Given the description of an element on the screen output the (x, y) to click on. 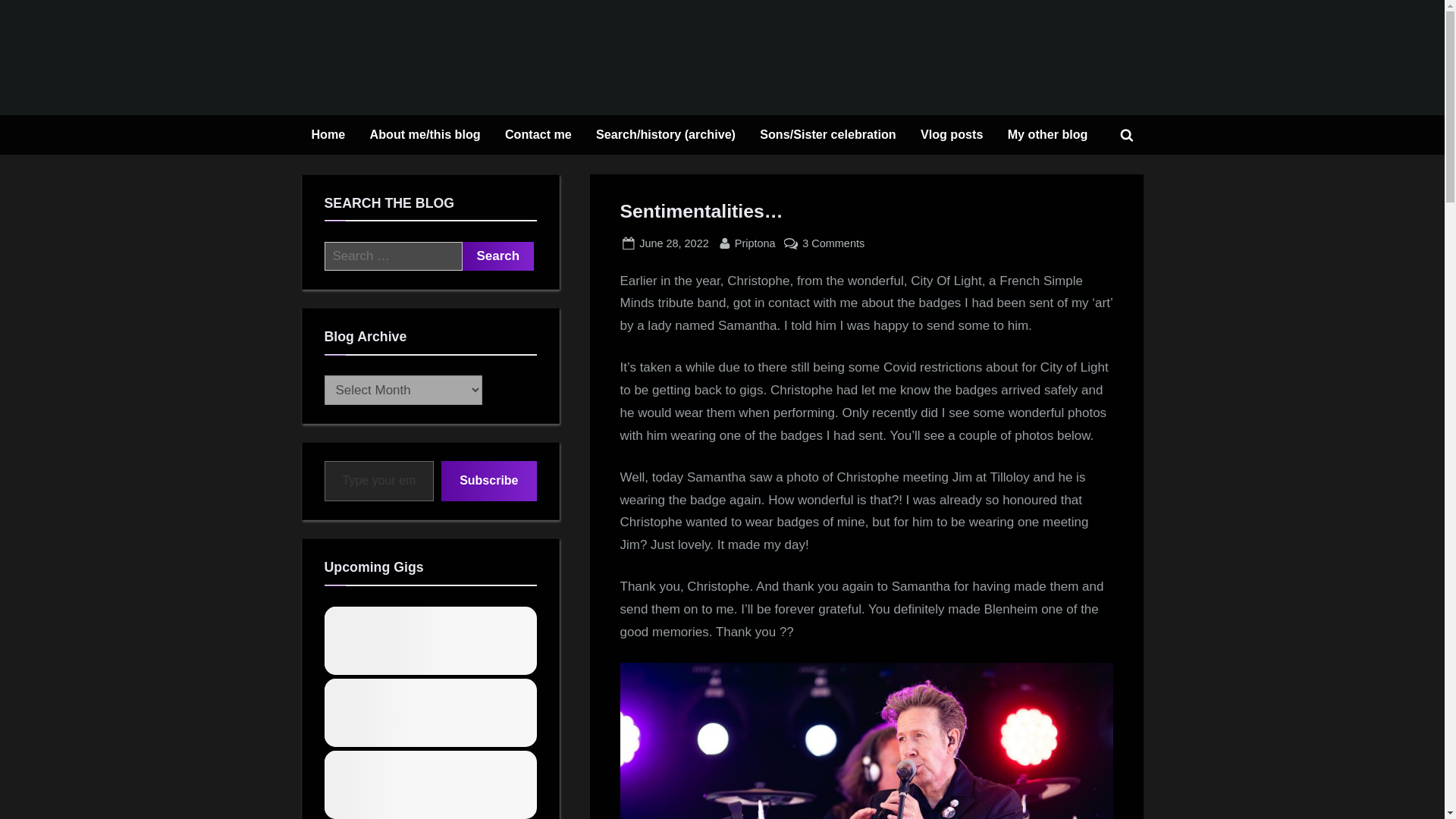
Vlog posts (951, 134)
Contact me (755, 243)
Search (674, 243)
My other blog (537, 134)
Please fill in this field. (498, 256)
Home (1047, 134)
Priptona's Simple Minds Space (378, 481)
Toggle search form (328, 134)
